Given the description of an element on the screen output the (x, y) to click on. 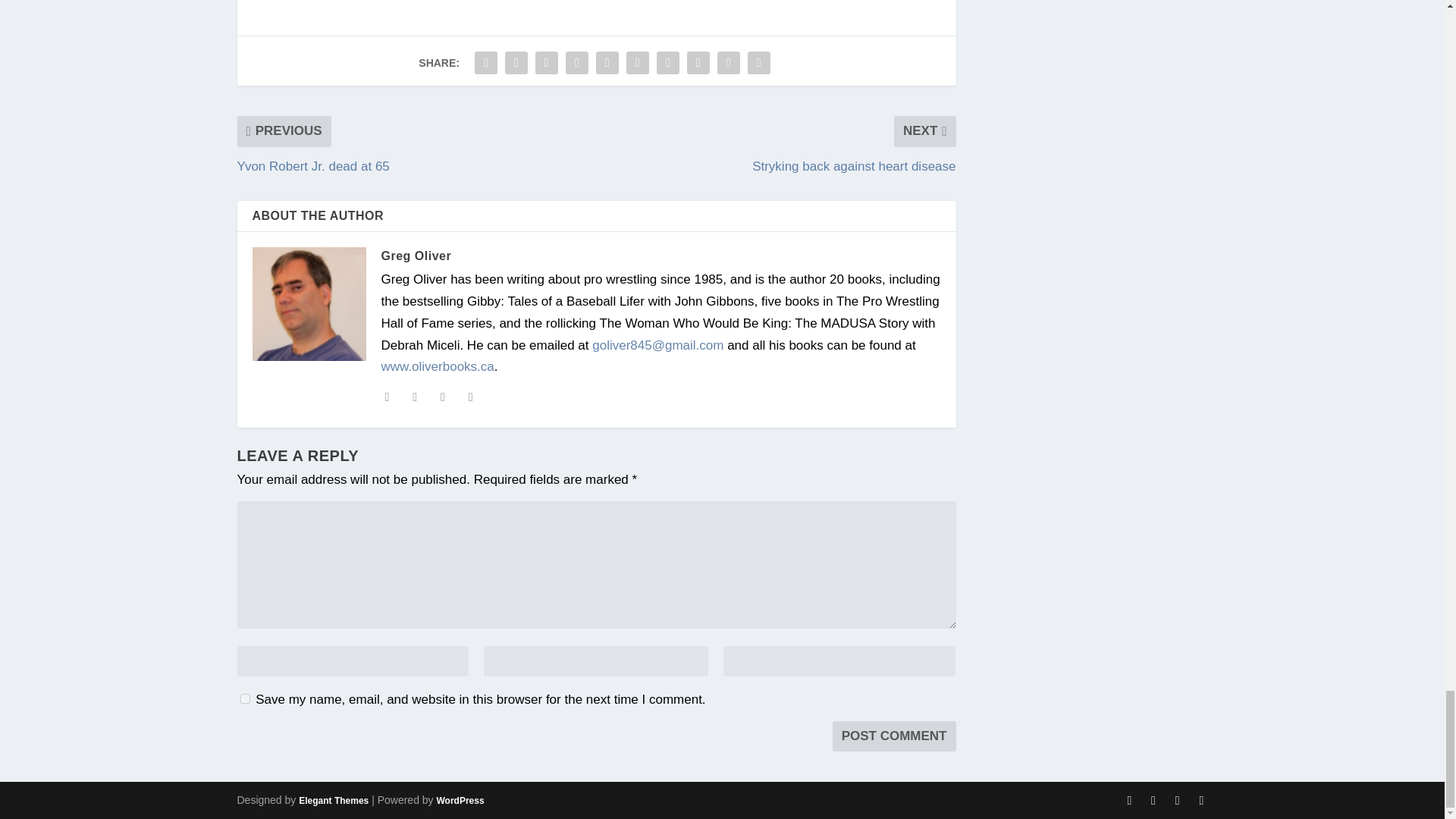
Post Comment (894, 736)
yes (244, 698)
Premium WordPress Themes (333, 800)
View all posts by Greg Oliver (415, 255)
